Given the description of an element on the screen output the (x, y) to click on. 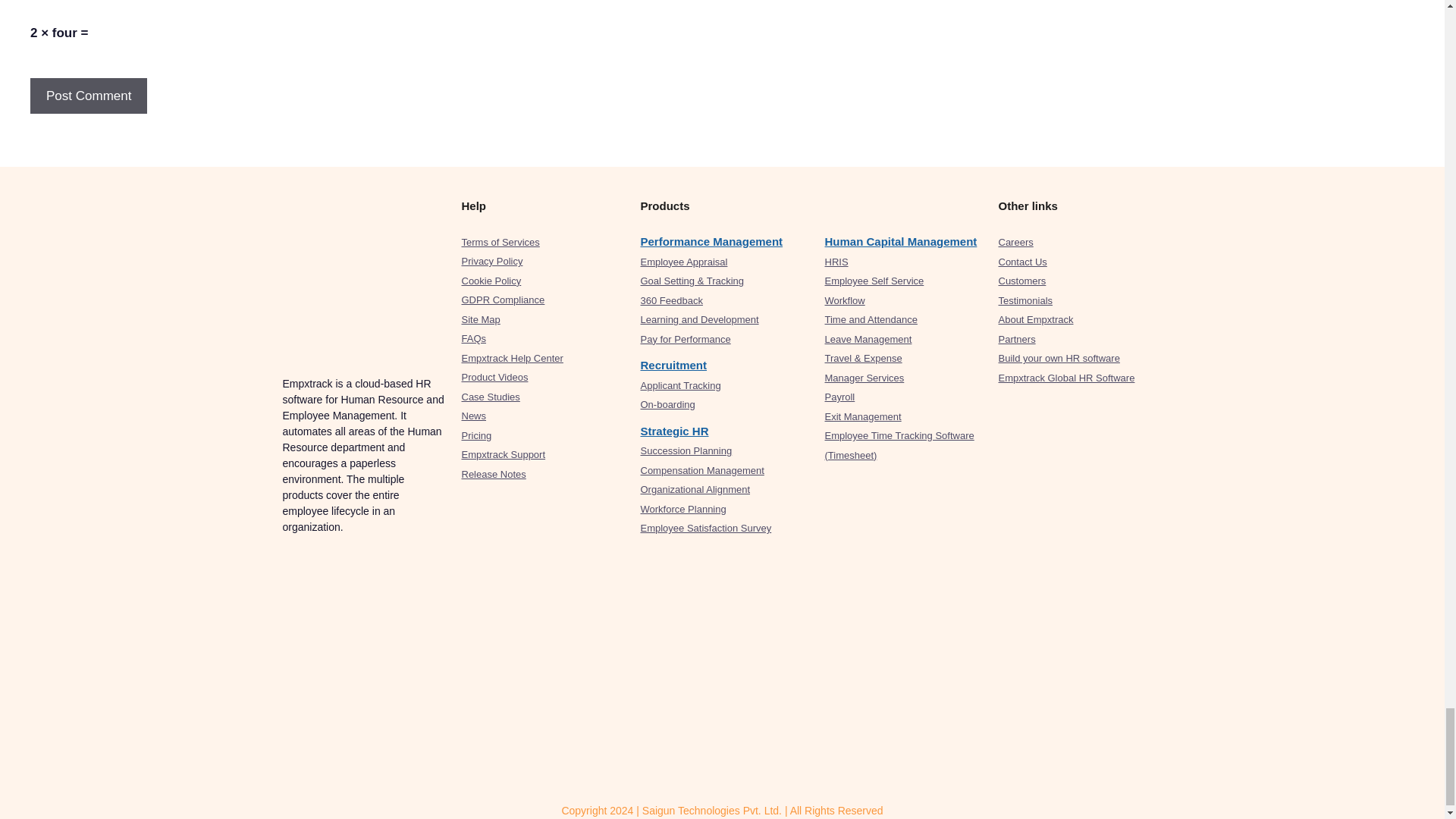
Empxtrack privacy policy (491, 260)
Empxtrack performance management solution (711, 241)
Empxtrack case studies (490, 396)
Empxtrack news (473, 415)
Empxtrack videos (494, 377)
Empxtrack GDPR compliance (502, 299)
Empxtrack Appraisal software (683, 261)
Empxtrack terms of services (499, 242)
Empxtrack pricing (476, 435)
Empxtrack cookie policy (491, 280)
